Given the description of an element on the screen output the (x, y) to click on. 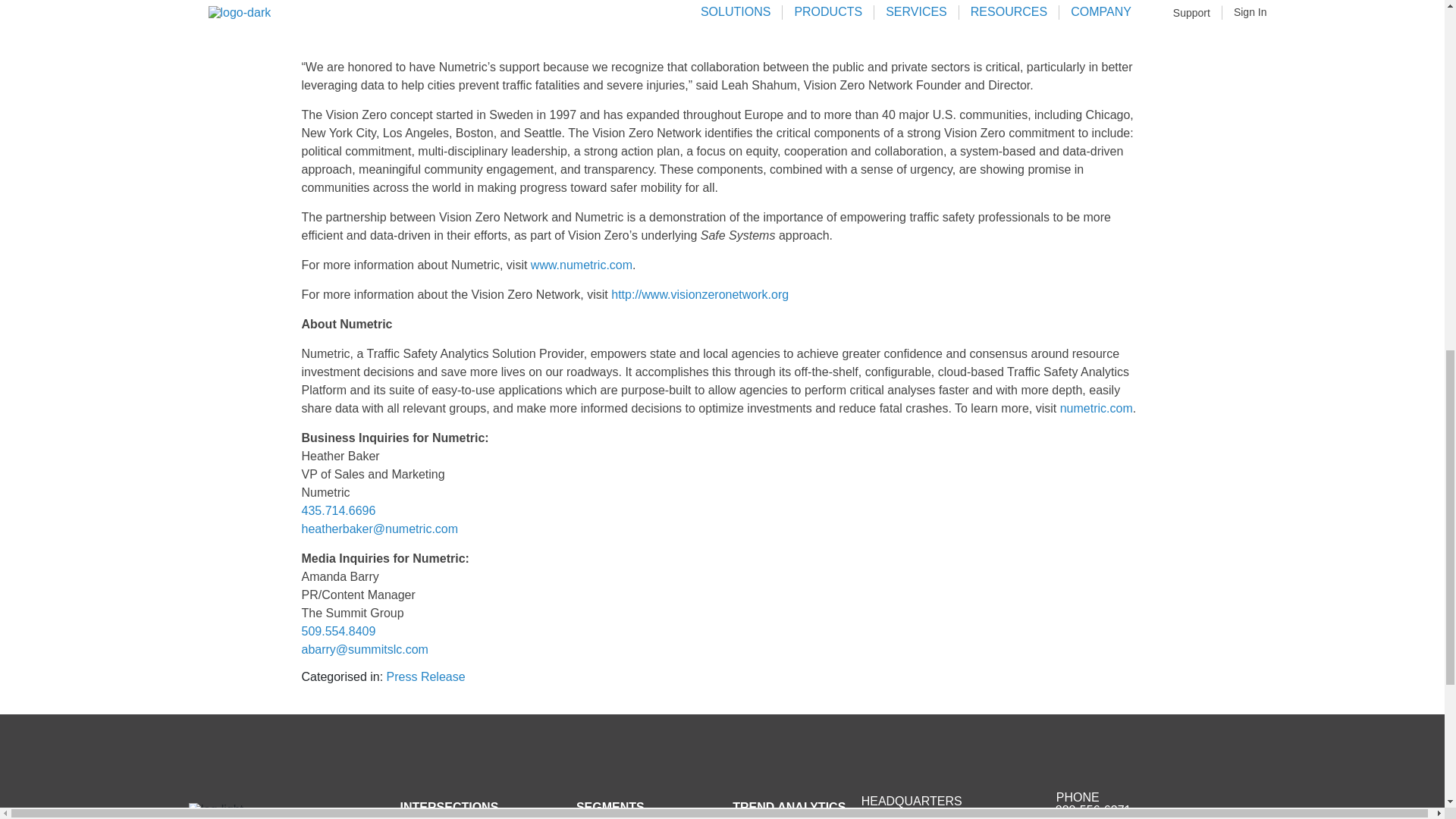
www.numetric.com (581, 264)
